Given the description of an element on the screen output the (x, y) to click on. 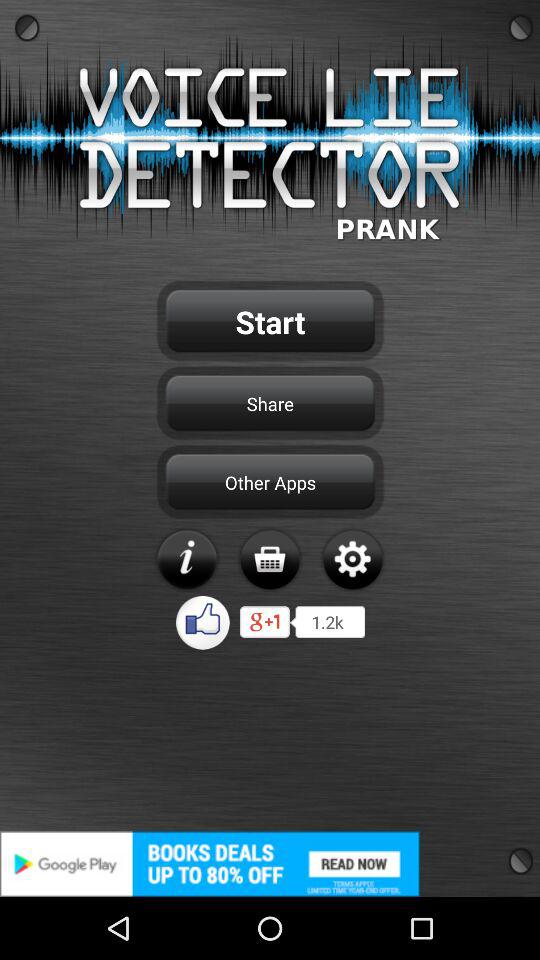
add cart (269, 559)
